Given the description of an element on the screen output the (x, y) to click on. 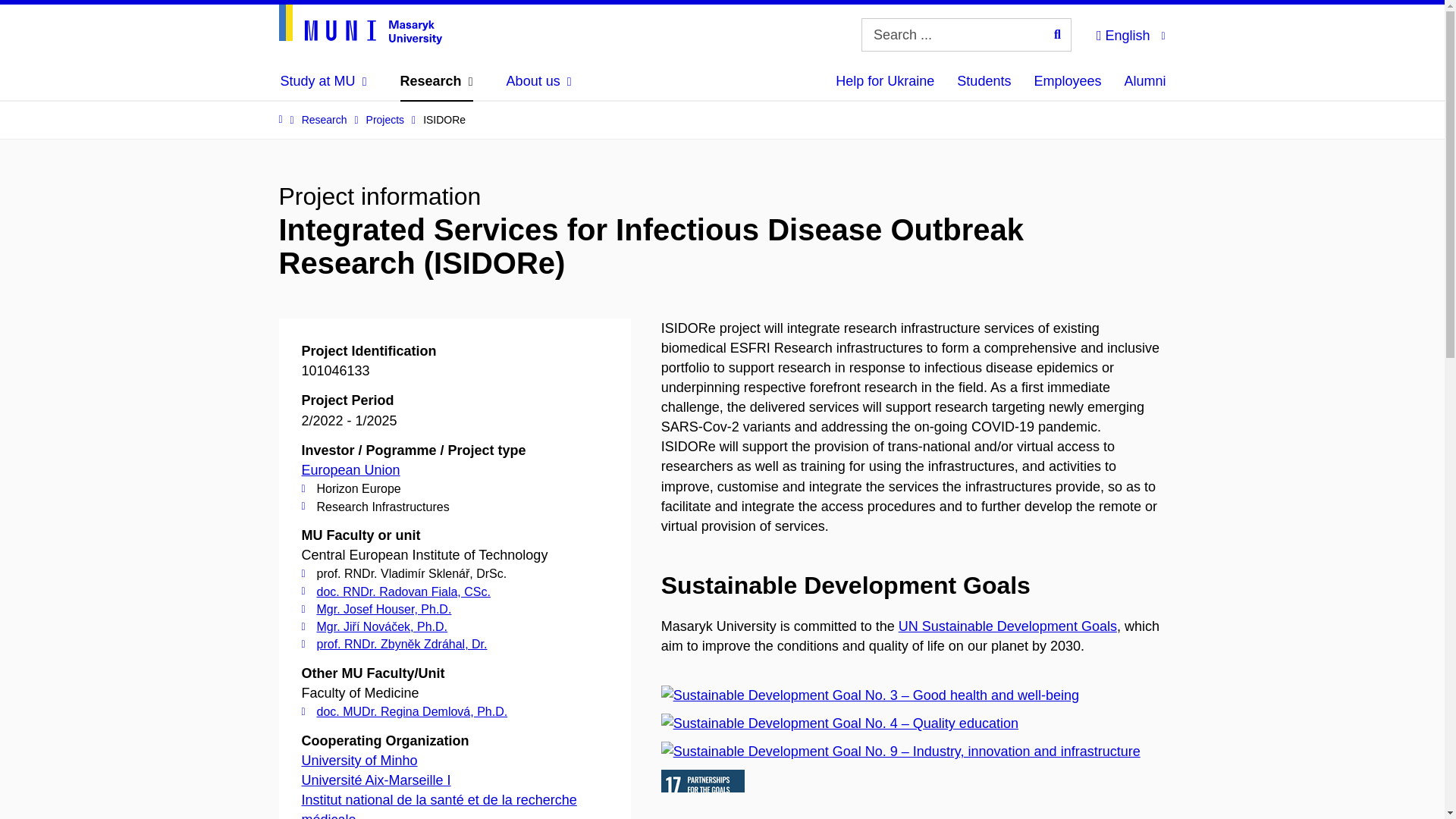
Study at MU (323, 80)
Research (436, 80)
Homepage site (360, 24)
English (1130, 34)
